Given the description of an element on the screen output the (x, y) to click on. 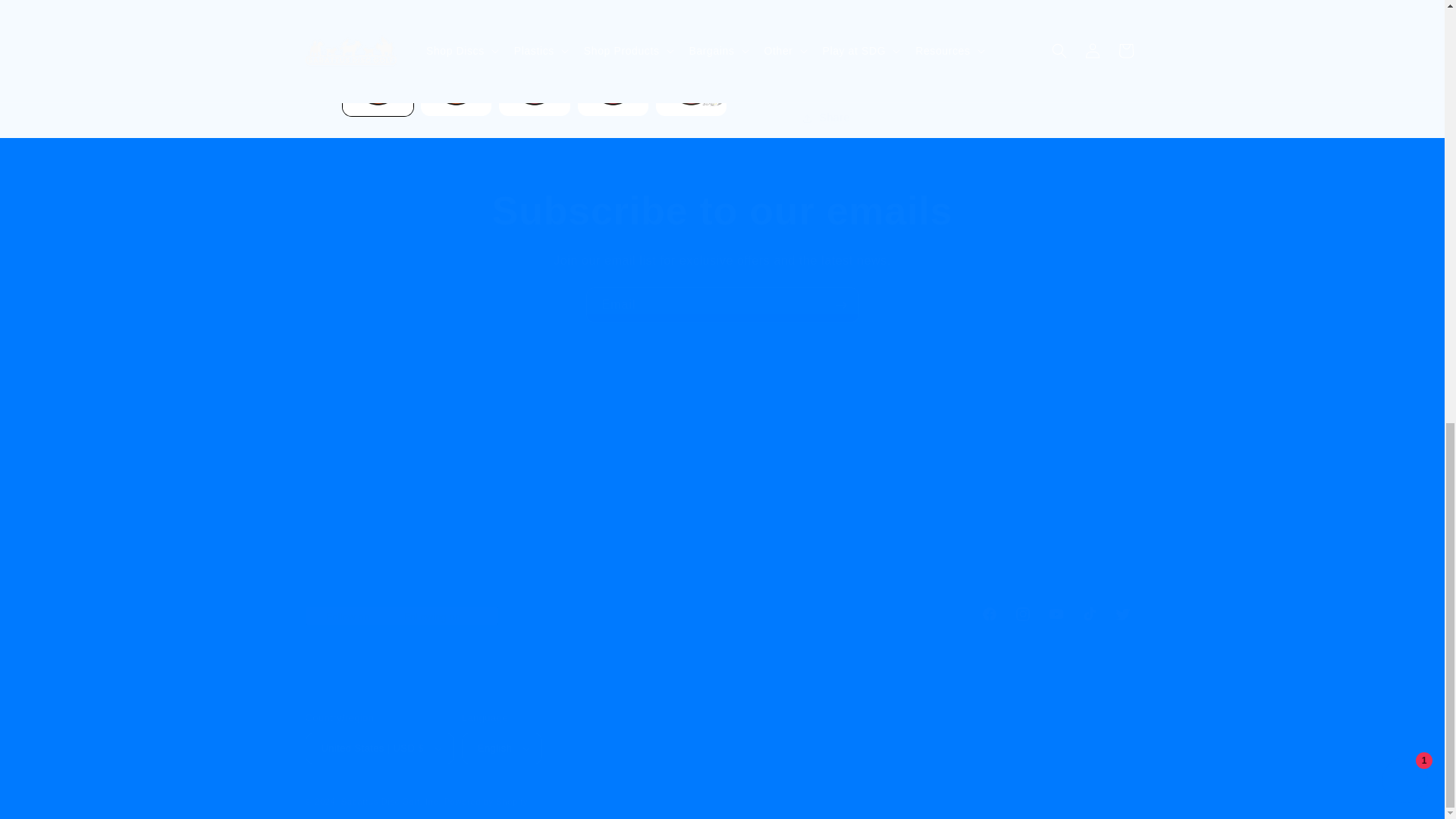
Email (722, 304)
Subscribe to our emails (721, 613)
